Given the description of an element on the screen output the (x, y) to click on. 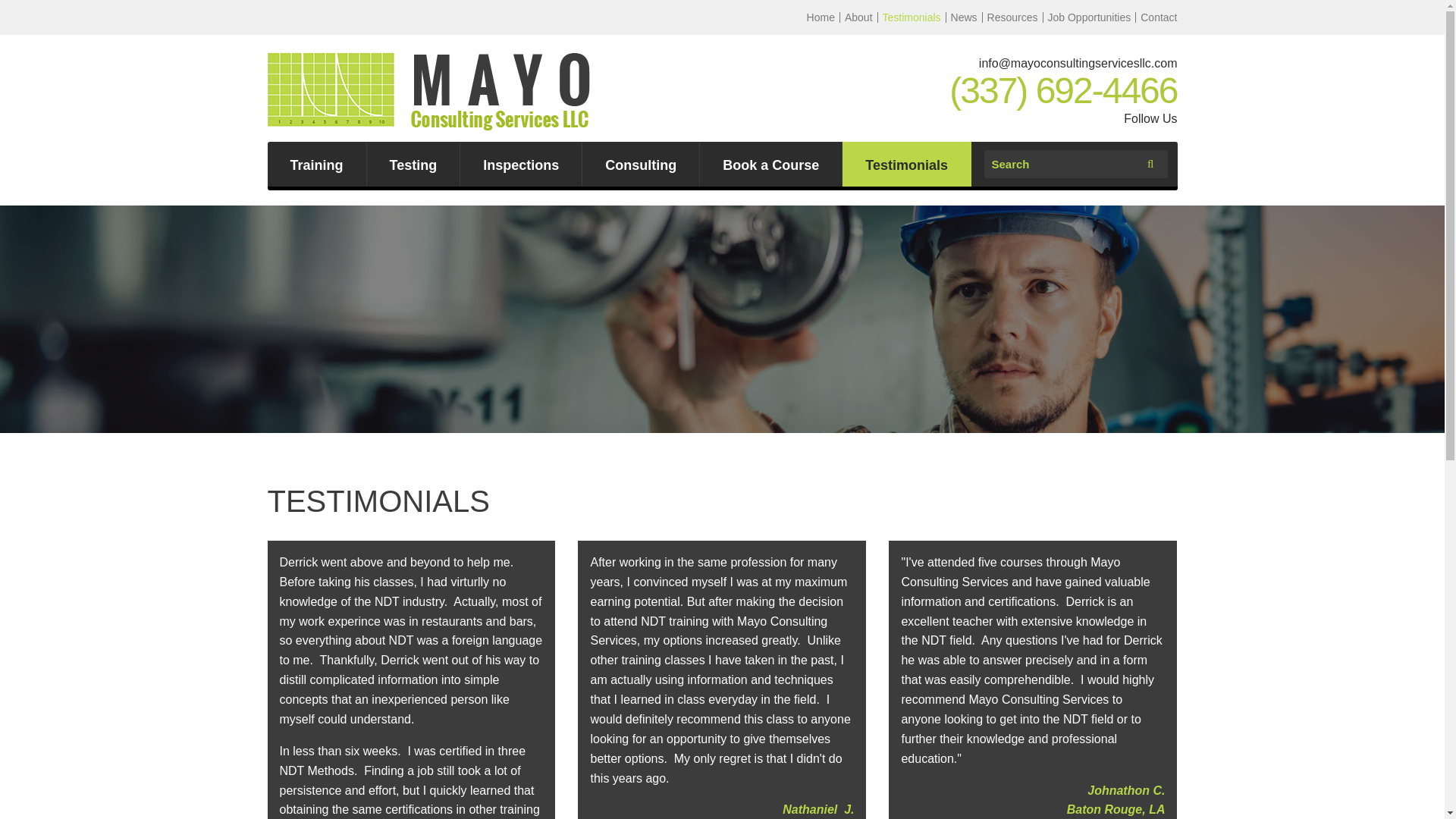
Contact (1155, 17)
Job Opportunities (1089, 17)
Testimonials (910, 17)
Testimonials (907, 163)
Testing (413, 163)
Training (315, 163)
About (858, 17)
Home (821, 17)
Inspections (520, 163)
Resources (1012, 17)
Search (1065, 163)
Book a Course (770, 163)
News (963, 17)
Consulting (640, 163)
